Given the description of an element on the screen output the (x, y) to click on. 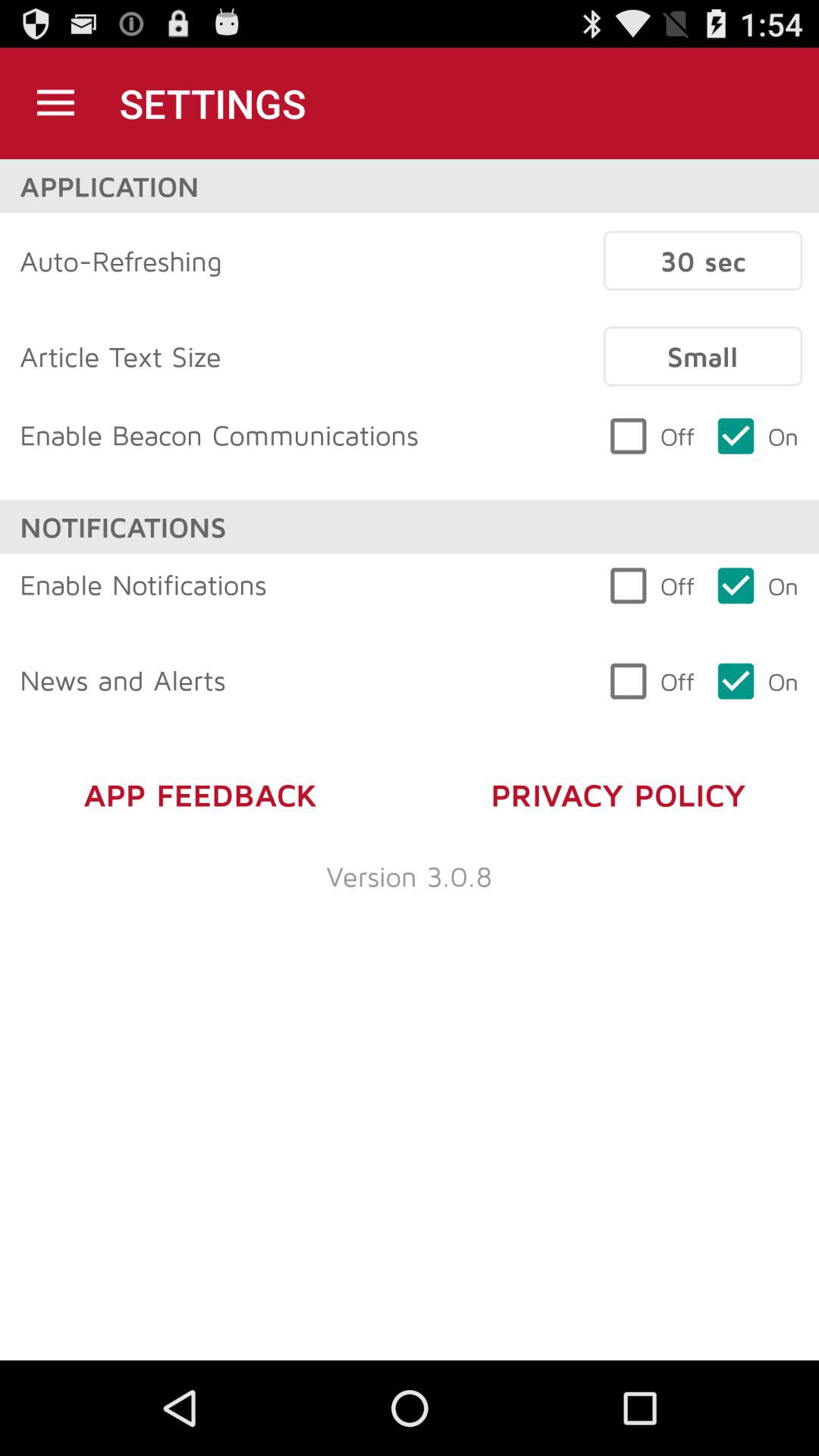
go to menu (55, 103)
